Given the description of an element on the screen output the (x, y) to click on. 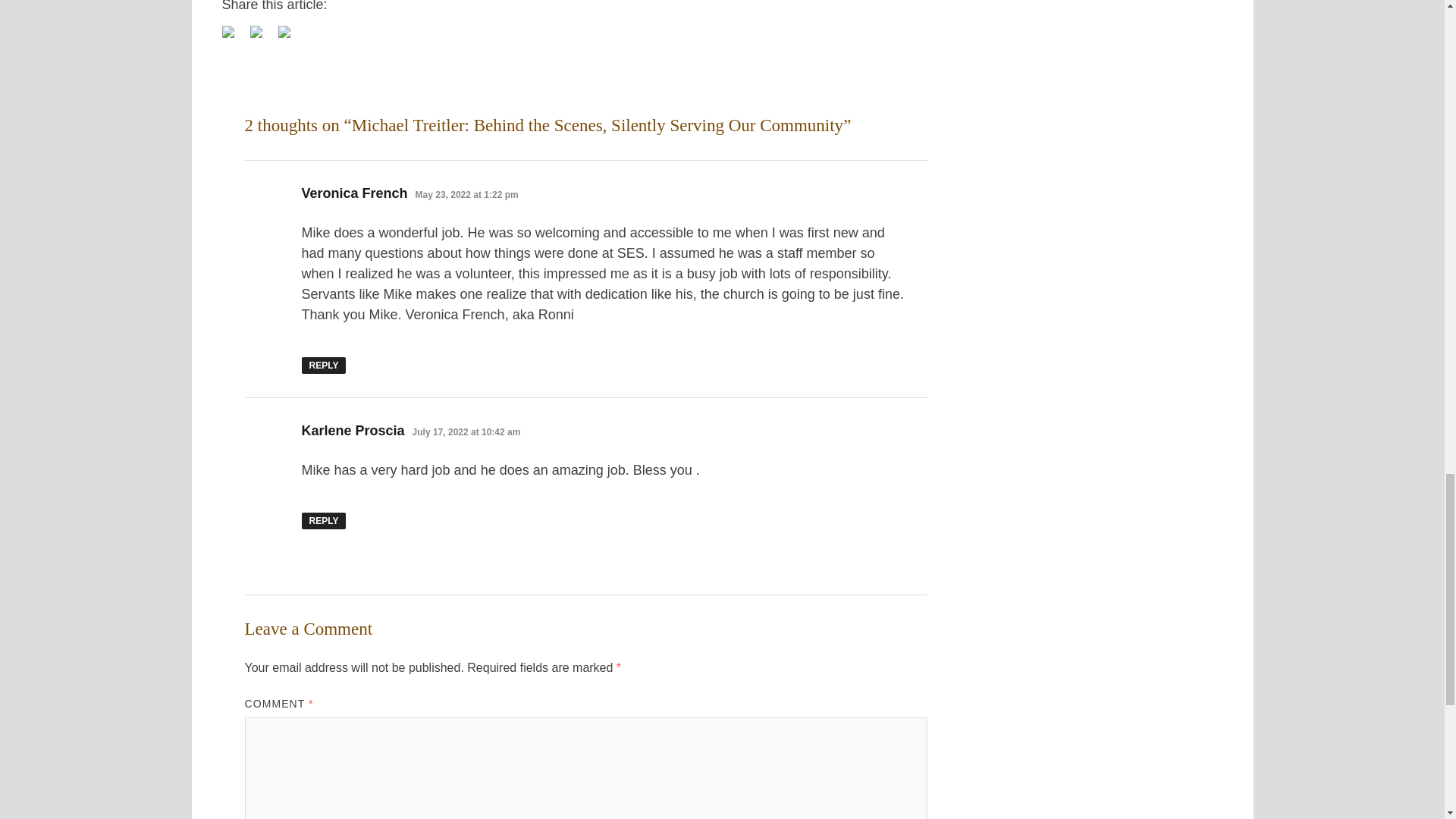
Share on Facebook (233, 37)
July 17, 2022 at 10:42 am (466, 431)
Share this post via email (289, 37)
REPLY (323, 520)
REPLY (323, 365)
Share on Twitter (262, 37)
Share on Twitter (256, 31)
Share on Facebook (226, 31)
Share this post via email (283, 31)
May 23, 2022 at 1:22 pm (466, 194)
